Given the description of an element on the screen output the (x, y) to click on. 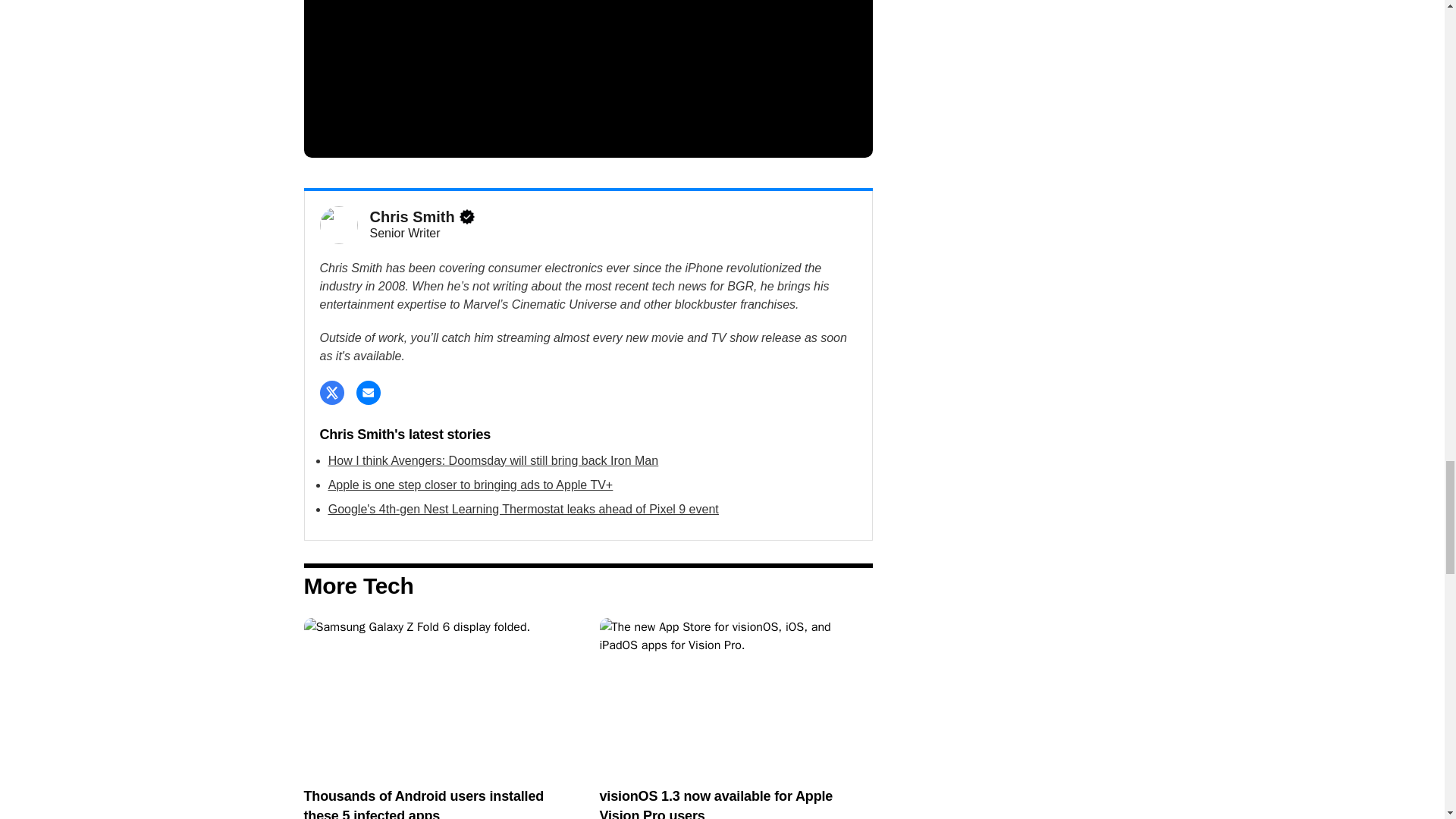
Android apps (439, 695)
